Given the description of an element on the screen output the (x, y) to click on. 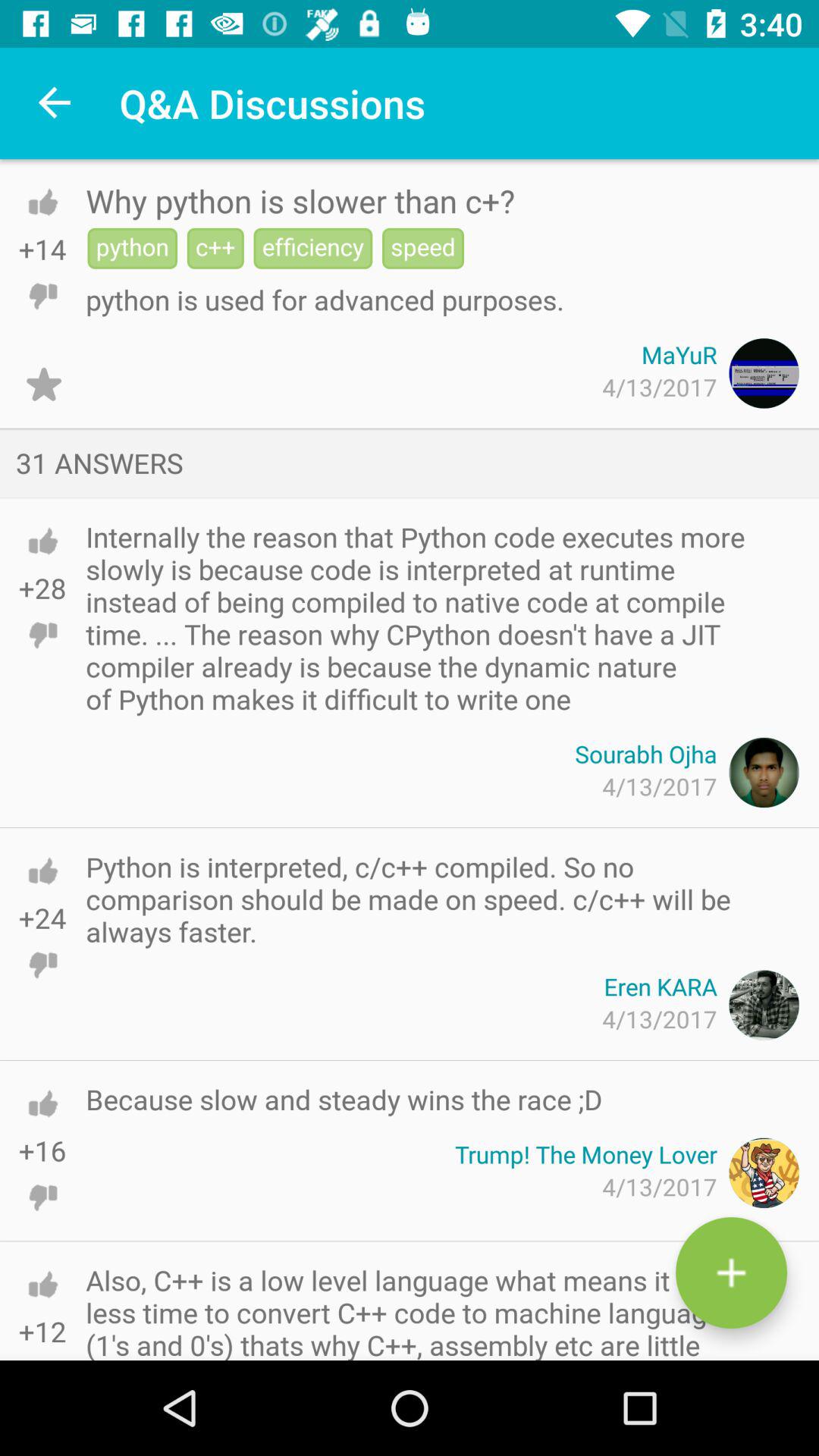
he can activate the simple voice command (42, 202)
